Given the description of an element on the screen output the (x, y) to click on. 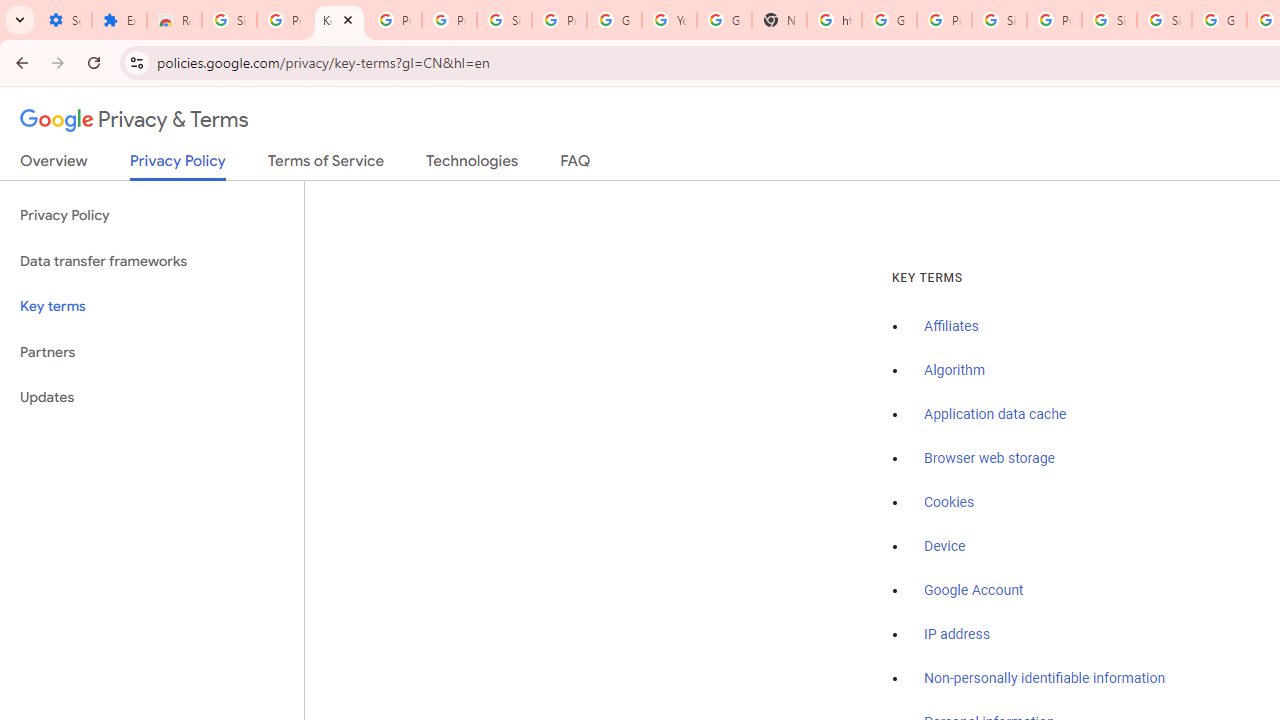
Reviews: Helix Fruit Jump Arcade Game (174, 20)
Affiliates (951, 327)
Google Account (974, 590)
Application data cache (995, 415)
New Tab (779, 20)
